Given the description of an element on the screen output the (x, y) to click on. 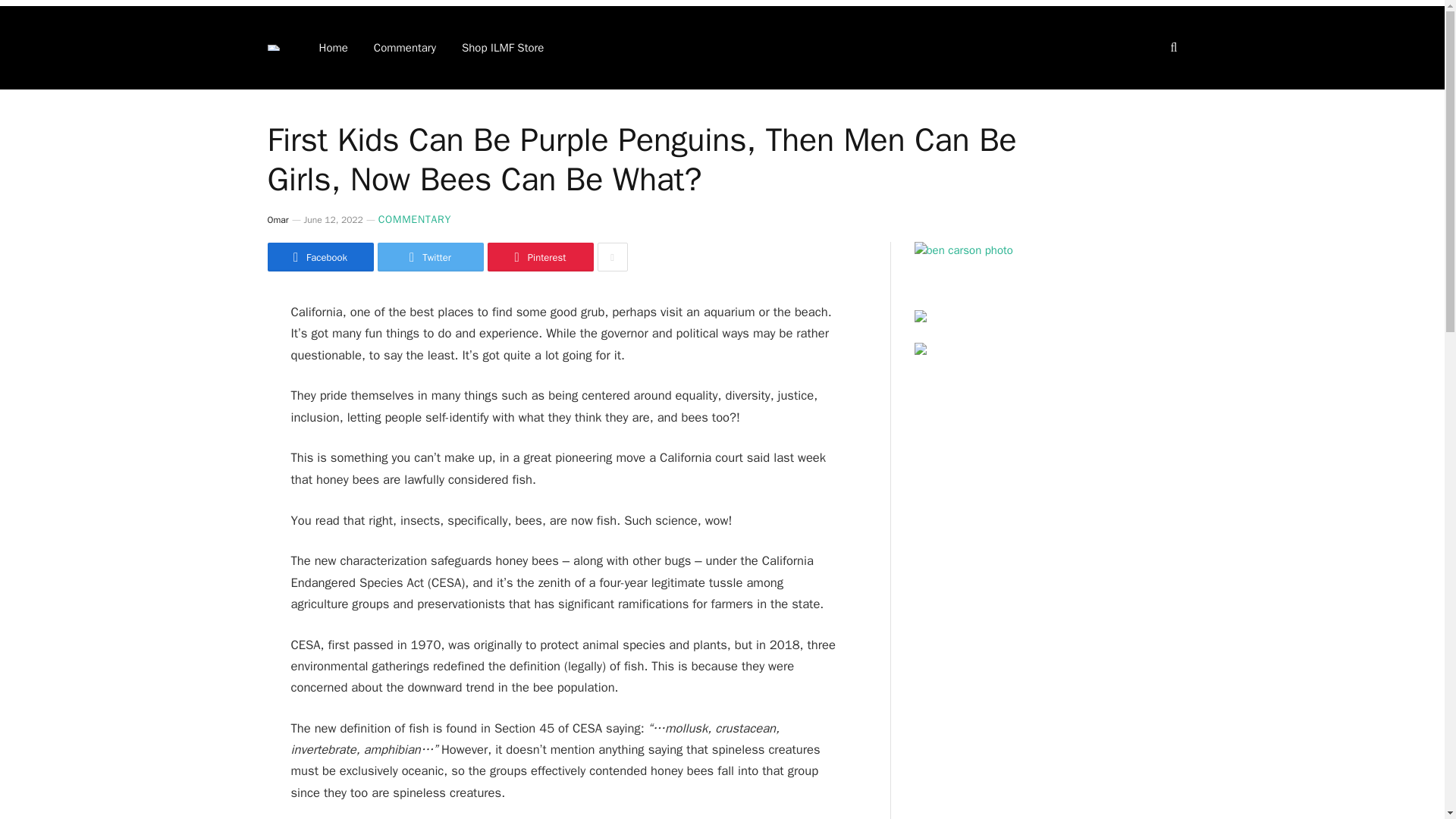
Share on Facebook (319, 256)
Pinterest (539, 256)
Shop ILMF Store (502, 47)
ben carson photo (963, 250)
Facebook (319, 256)
Omar (277, 219)
Show More Social Sharing (611, 256)
Share on Pinterest (539, 256)
Commentary (404, 47)
Posts by Omar (277, 219)
